Given the description of an element on the screen output the (x, y) to click on. 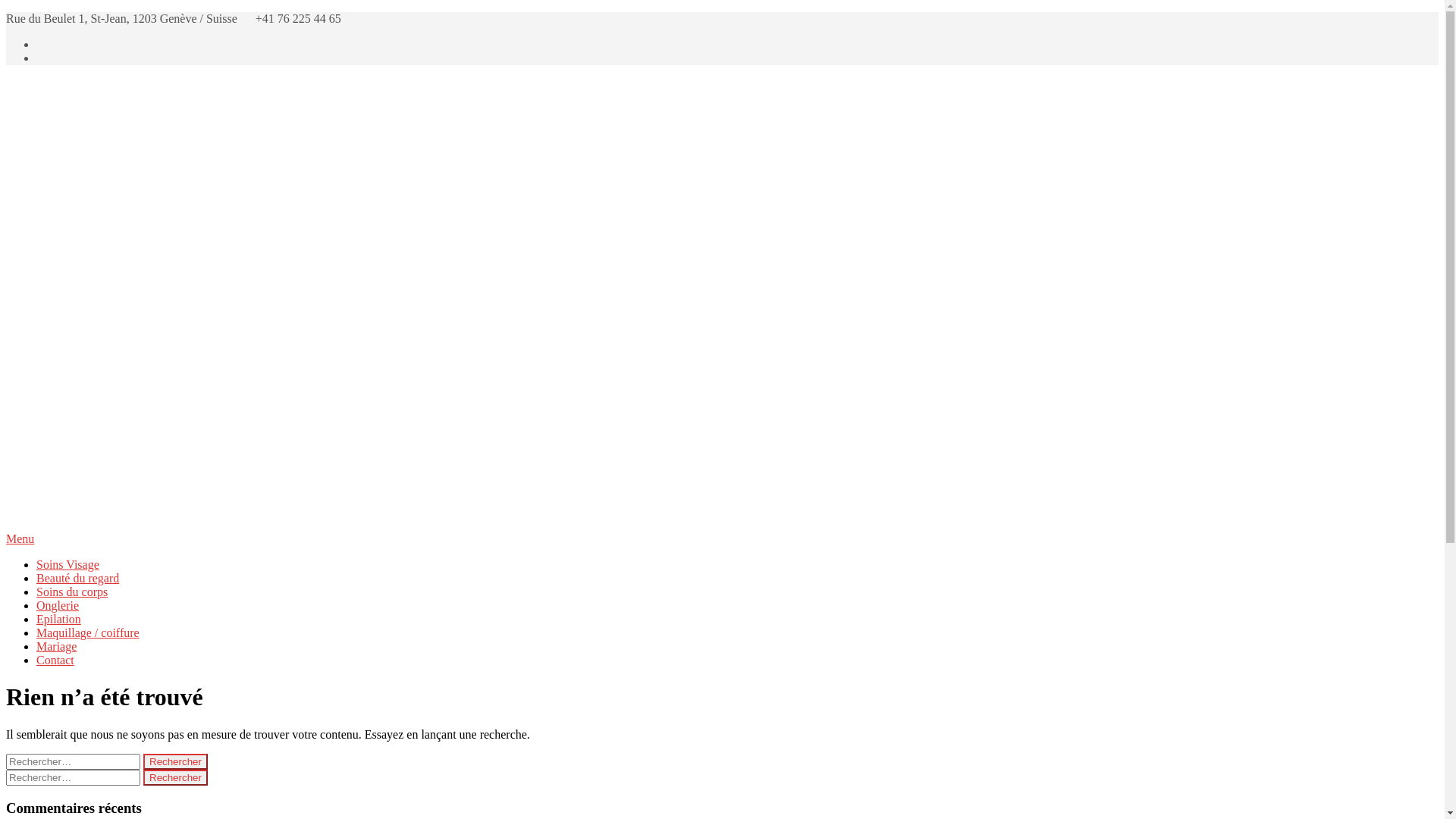
Mariage Element type: text (56, 646)
Rechercher Element type: text (175, 777)
Maquillage / coiffure Element type: text (87, 632)
Onglerie Element type: text (57, 605)
Soins du corps Element type: text (71, 591)
Menu Element type: text (722, 539)
Epilation Element type: text (58, 618)
Rechercher Element type: text (175, 761)
Contact Element type: text (55, 659)
Skip to the content Element type: text (5, 11)
Soins Visage Element type: text (67, 564)
